Given the description of an element on the screen output the (x, y) to click on. 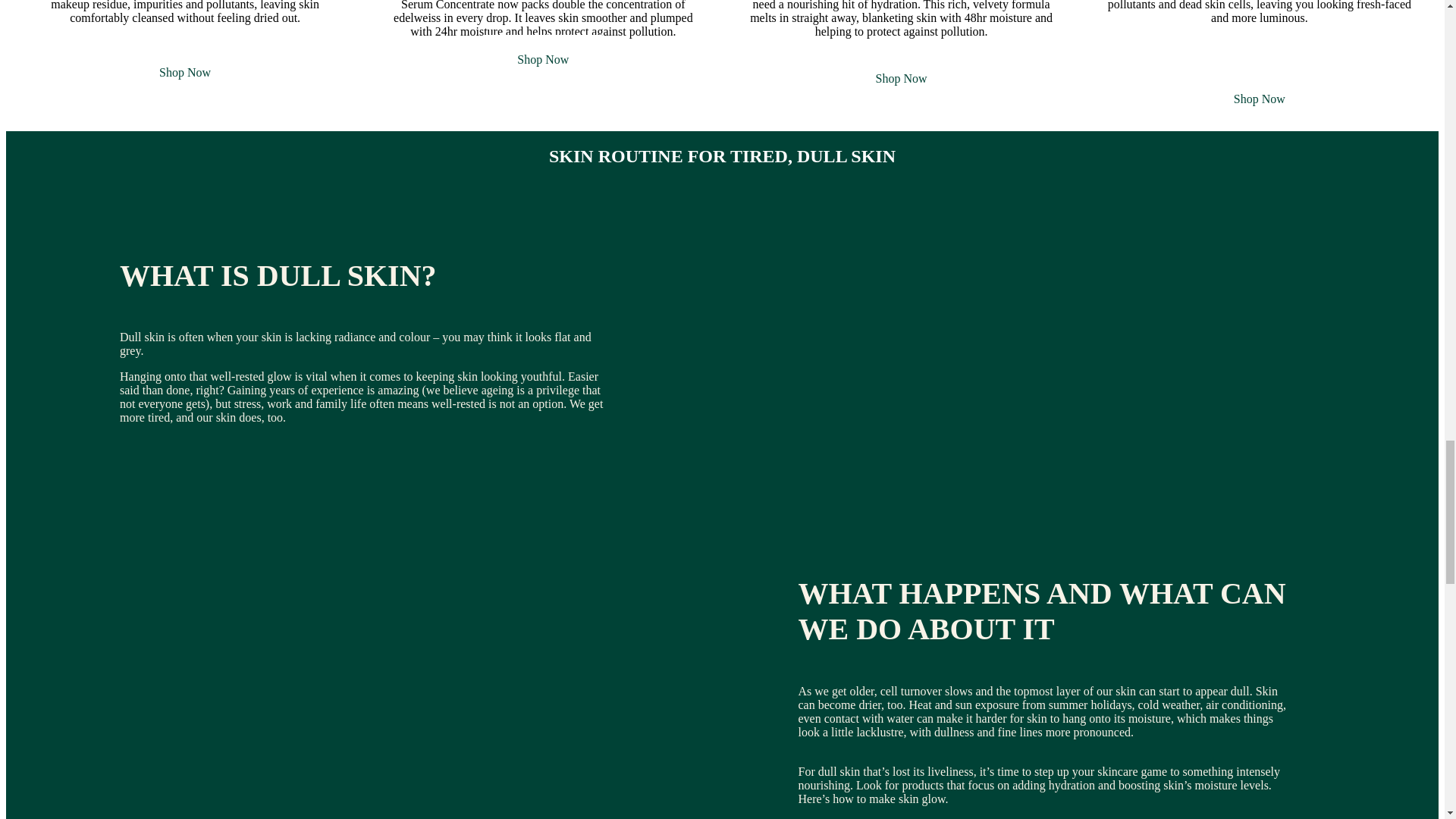
Shop Now (542, 59)
Shop Now (1259, 98)
Shop Now (184, 72)
Shop Now (901, 78)
